Given the description of an element on the screen output the (x, y) to click on. 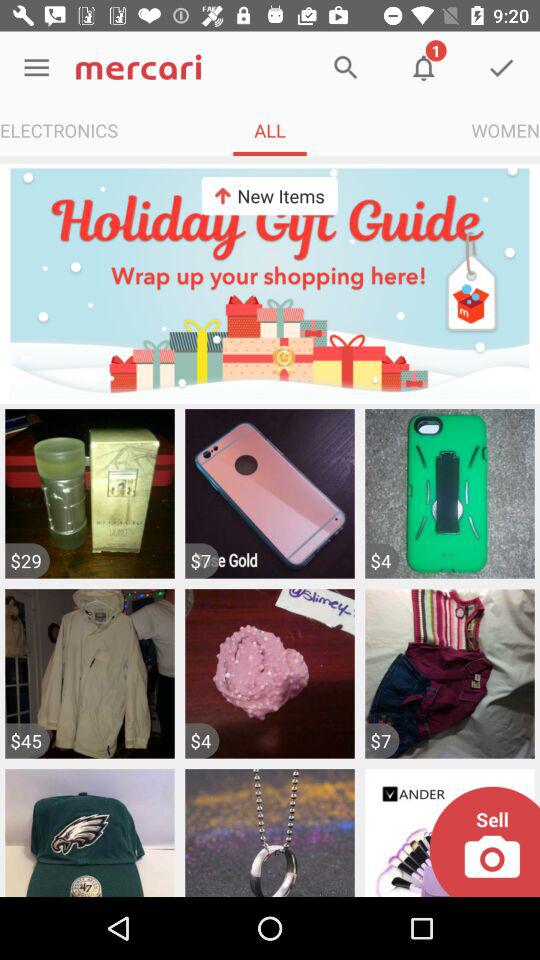
open electronics (59, 130)
